Given the description of an element on the screen output the (x, y) to click on. 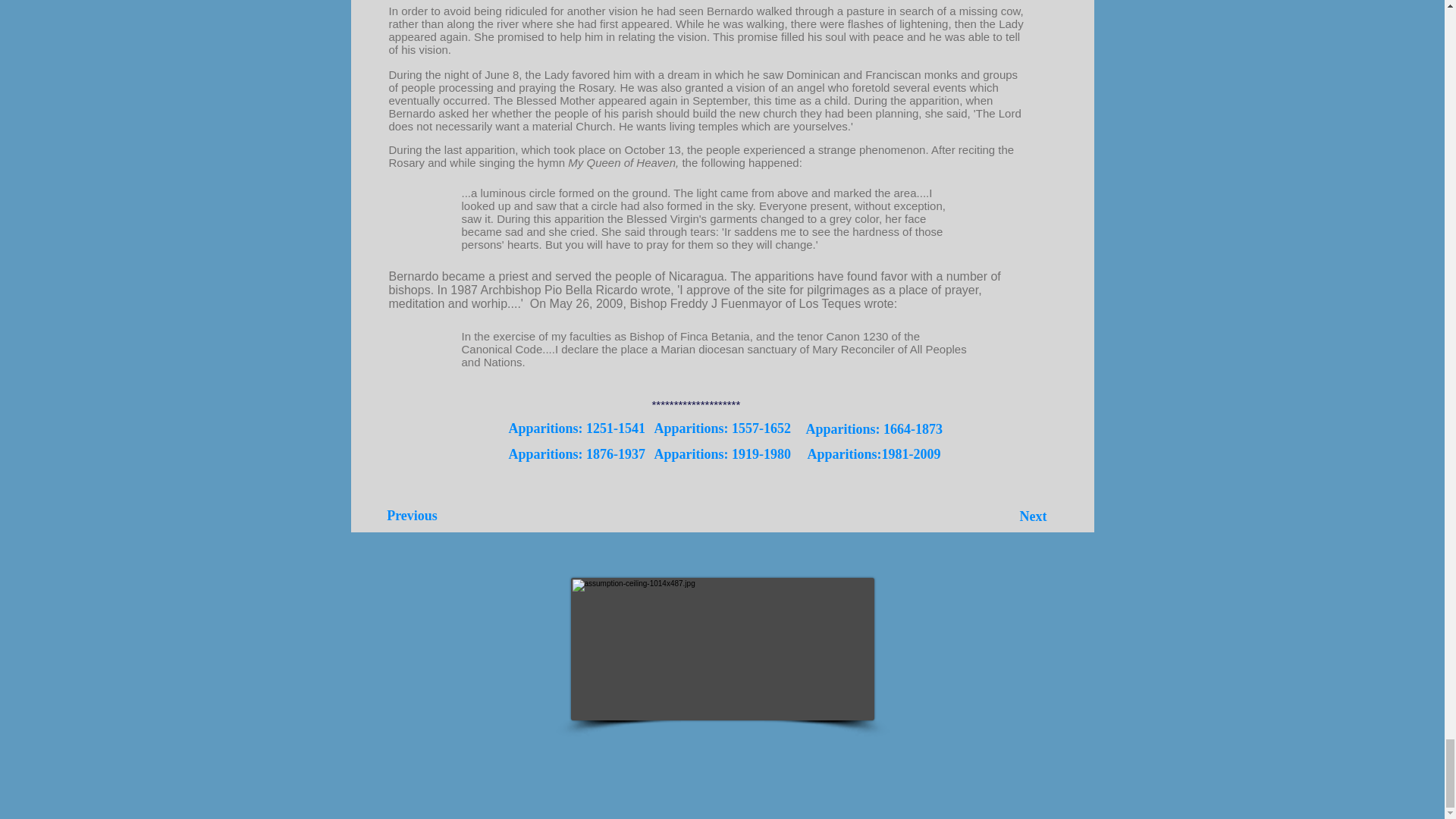
Apparitions:1981-2009 (873, 455)
Apparitions: 1876-1937 (576, 455)
Apparitions: 1557-1652 (721, 428)
Apparitions: 1251-1541 (576, 428)
Apparitions: 1919-1980 (721, 455)
Next (1033, 517)
Apparitions: 1664-1873 (873, 429)
Previous (411, 516)
